Given the description of an element on the screen output the (x, y) to click on. 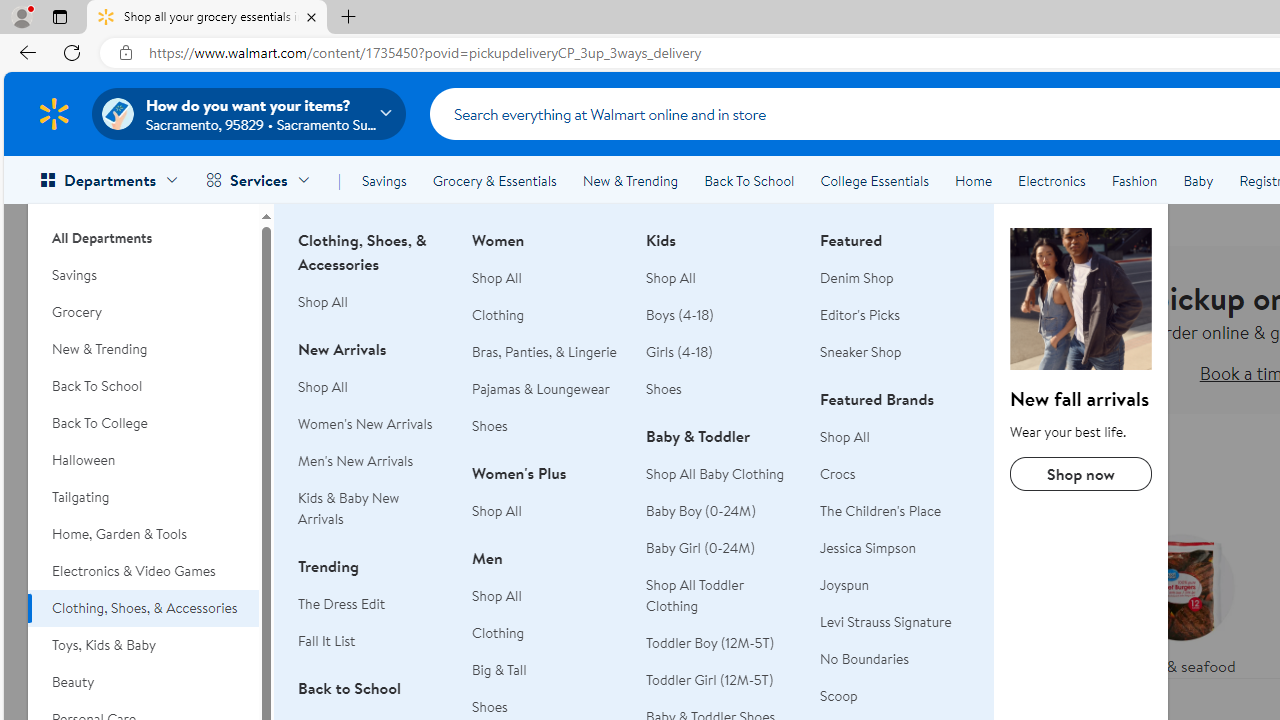
Back To School (749, 180)
Clothing, Shoes, & AccessoriesShop All (373, 282)
All Departments (143, 230)
Shop All Baby Clothing (715, 473)
Fresh Food (792, 569)
Big & Tall (547, 670)
Shoes (721, 389)
New & Trending (143, 349)
The Children's Place (895, 511)
New & Trending (630, 180)
Jessica Simpson (895, 547)
Denim Shop (856, 277)
No Boundaries (864, 658)
